Given the description of an element on the screen output the (x, y) to click on. 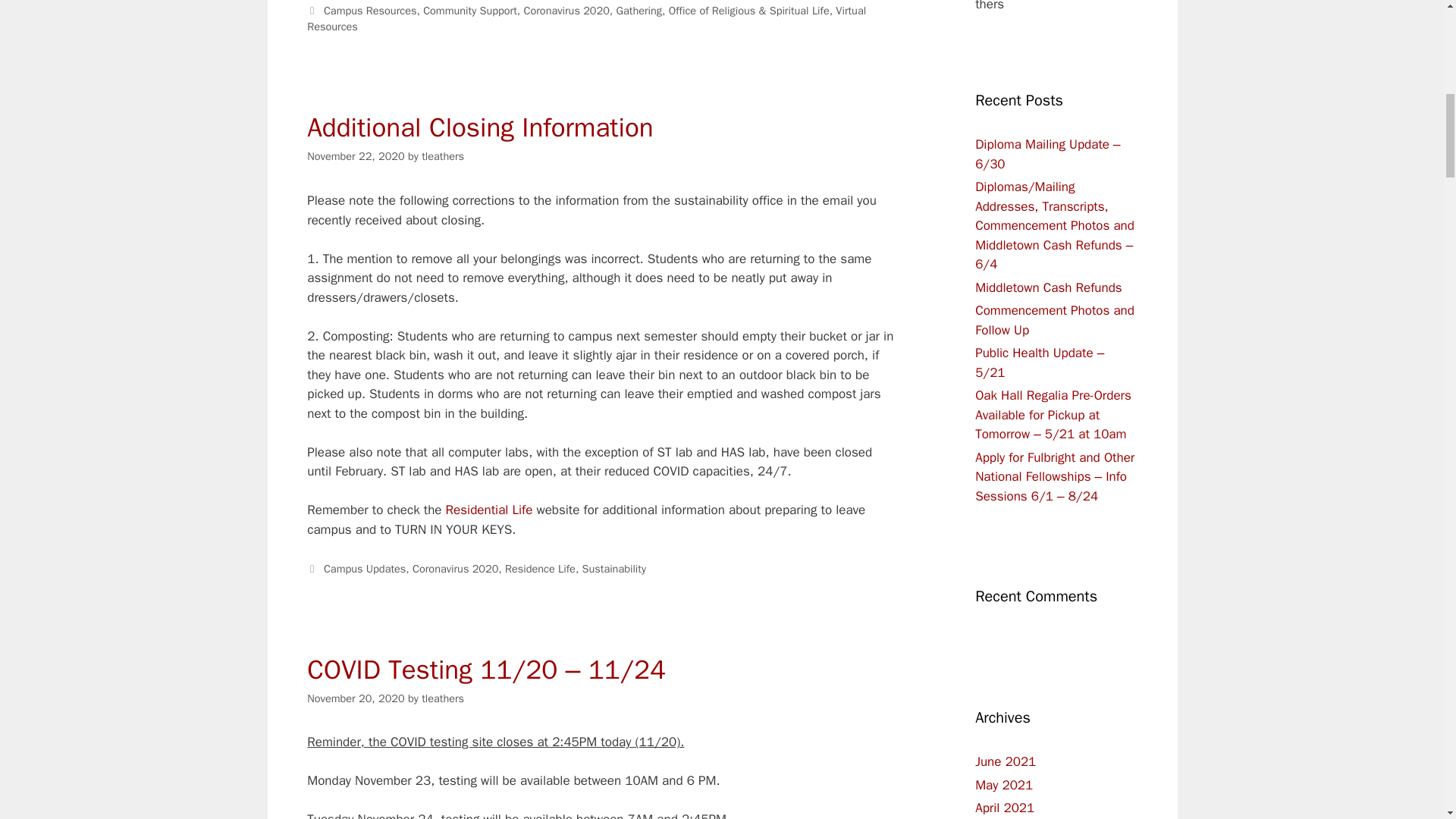
tleathers (443, 155)
View all posts by tleathers (443, 155)
Virtual Resources (586, 19)
View all posts by tleathers (443, 698)
Campus Resources (369, 10)
Community Support (469, 10)
Coronavirus 2020 (567, 10)
Additional Closing Information (479, 127)
Campus Updates (364, 568)
Gathering (638, 10)
Residential Life (488, 509)
